Given the description of an element on the screen output the (x, y) to click on. 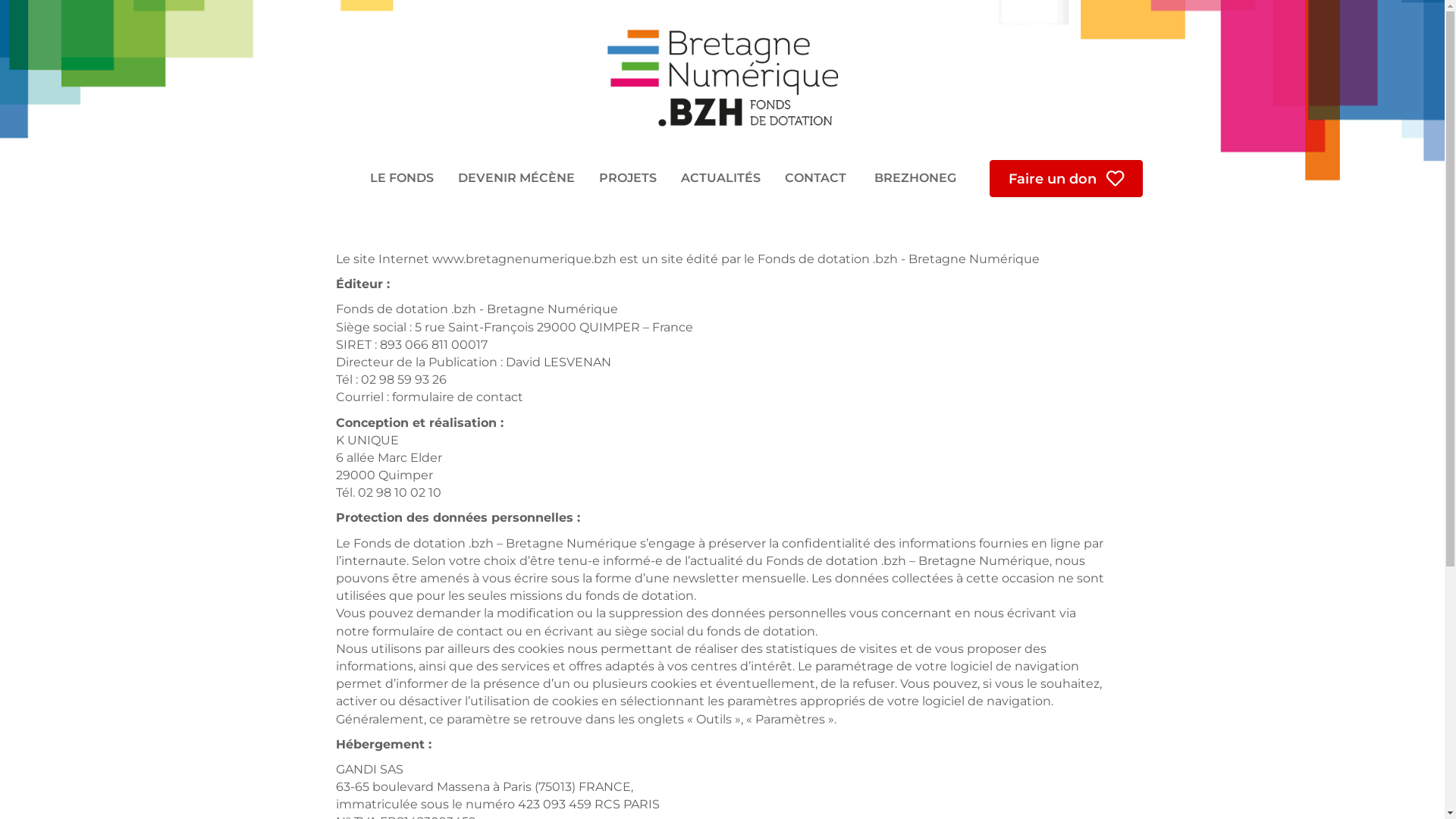
LE FONDS Element type: text (401, 177)
BREZHONEG Element type: text (913, 177)
www.bretagnenumerique.bzh Element type: text (524, 258)
Bretagne_numerique Element type: hover (722, 77)
formulaire de contact Element type: text (436, 631)
CONTACT Element type: text (815, 177)
PROJETS Element type: text (627, 177)
formulaire de contact Element type: text (456, 396)
Faire un don Element type: text (1065, 178)
